Given the description of an element on the screen output the (x, y) to click on. 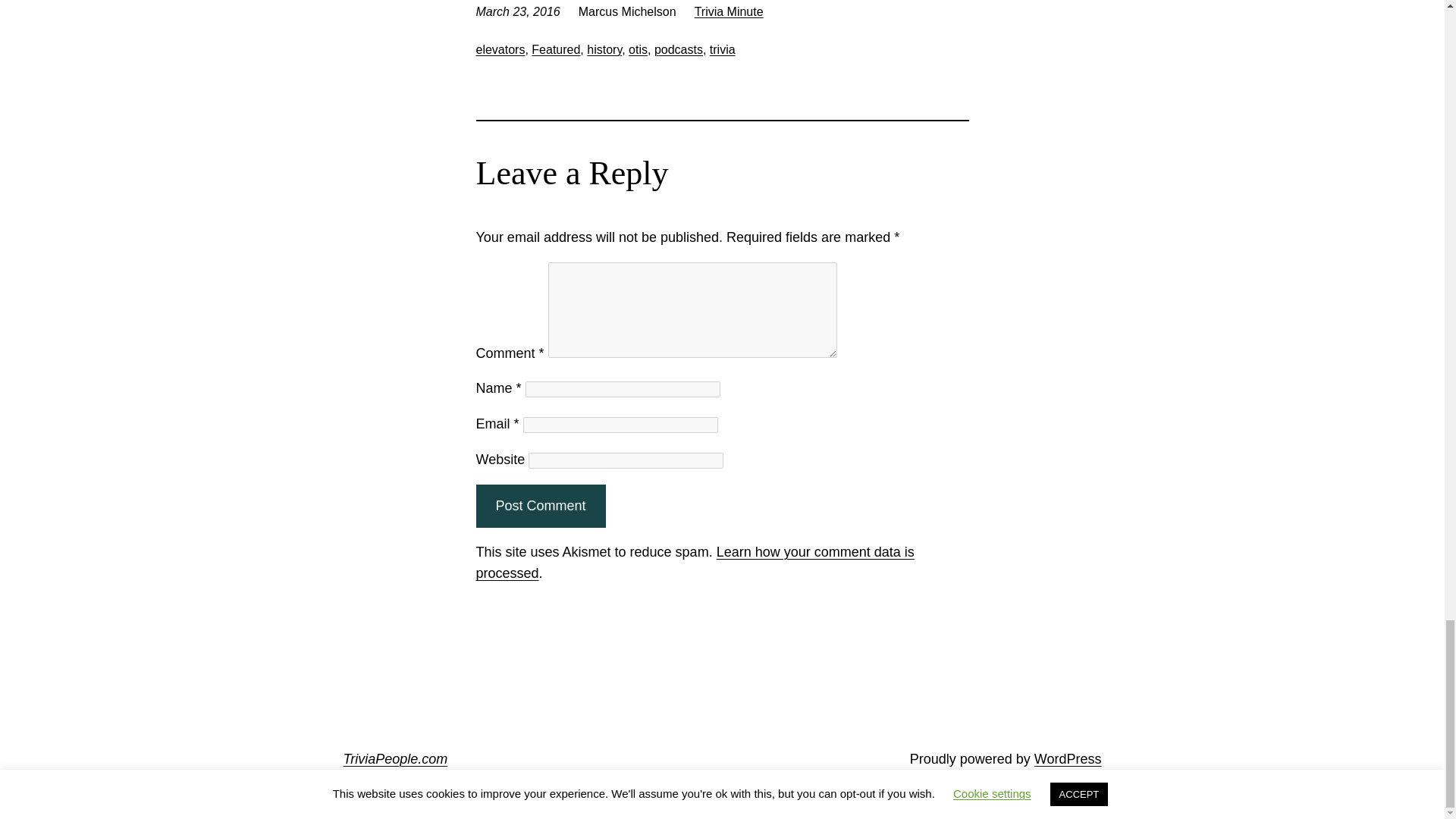
podcasts (678, 49)
Post Comment (540, 505)
Post Comment (540, 505)
Trivia Minute (728, 11)
elevators (500, 49)
history (603, 49)
Featured (555, 49)
trivia (722, 49)
otis (637, 49)
